Given the description of an element on the screen output the (x, y) to click on. 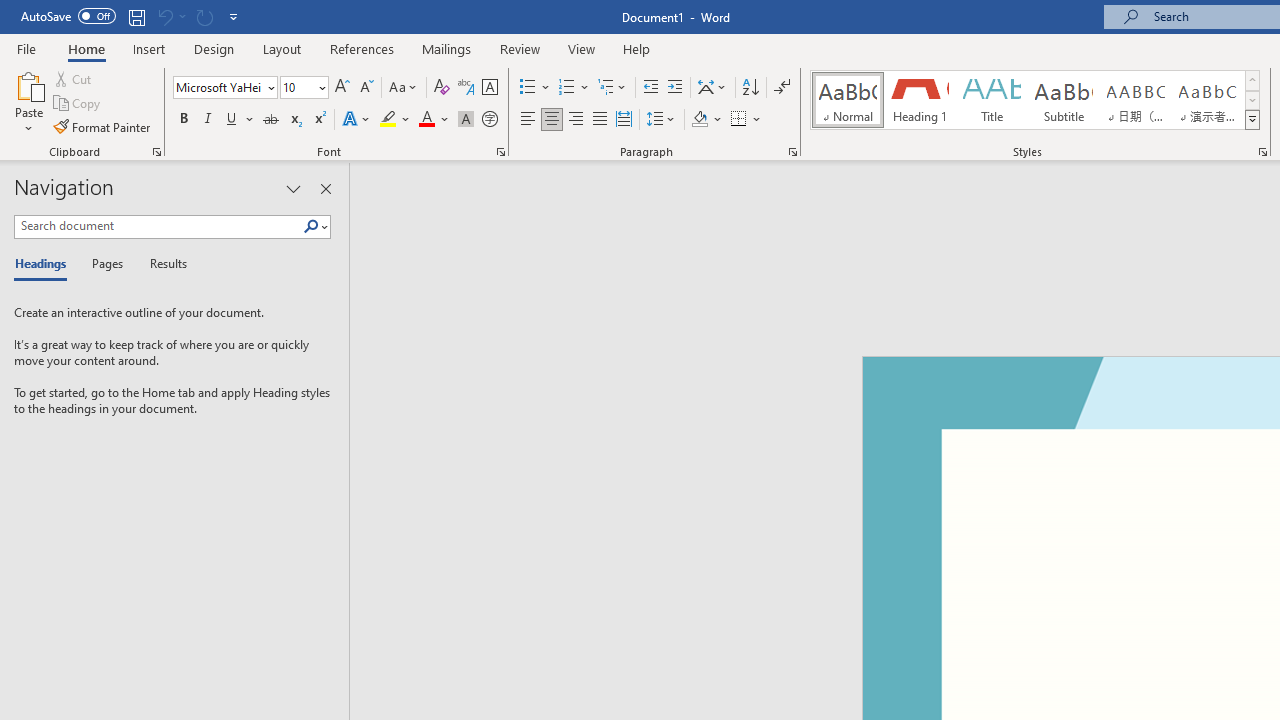
Headings (45, 264)
Italic (207, 119)
Text Highlight Color Yellow (388, 119)
Title (991, 100)
Character Border (489, 87)
Office Clipboard... (156, 151)
Enclose Characters... (489, 119)
Multilevel List (613, 87)
Font Color Red (426, 119)
Distributed (623, 119)
